Given the description of an element on the screen output the (x, y) to click on. 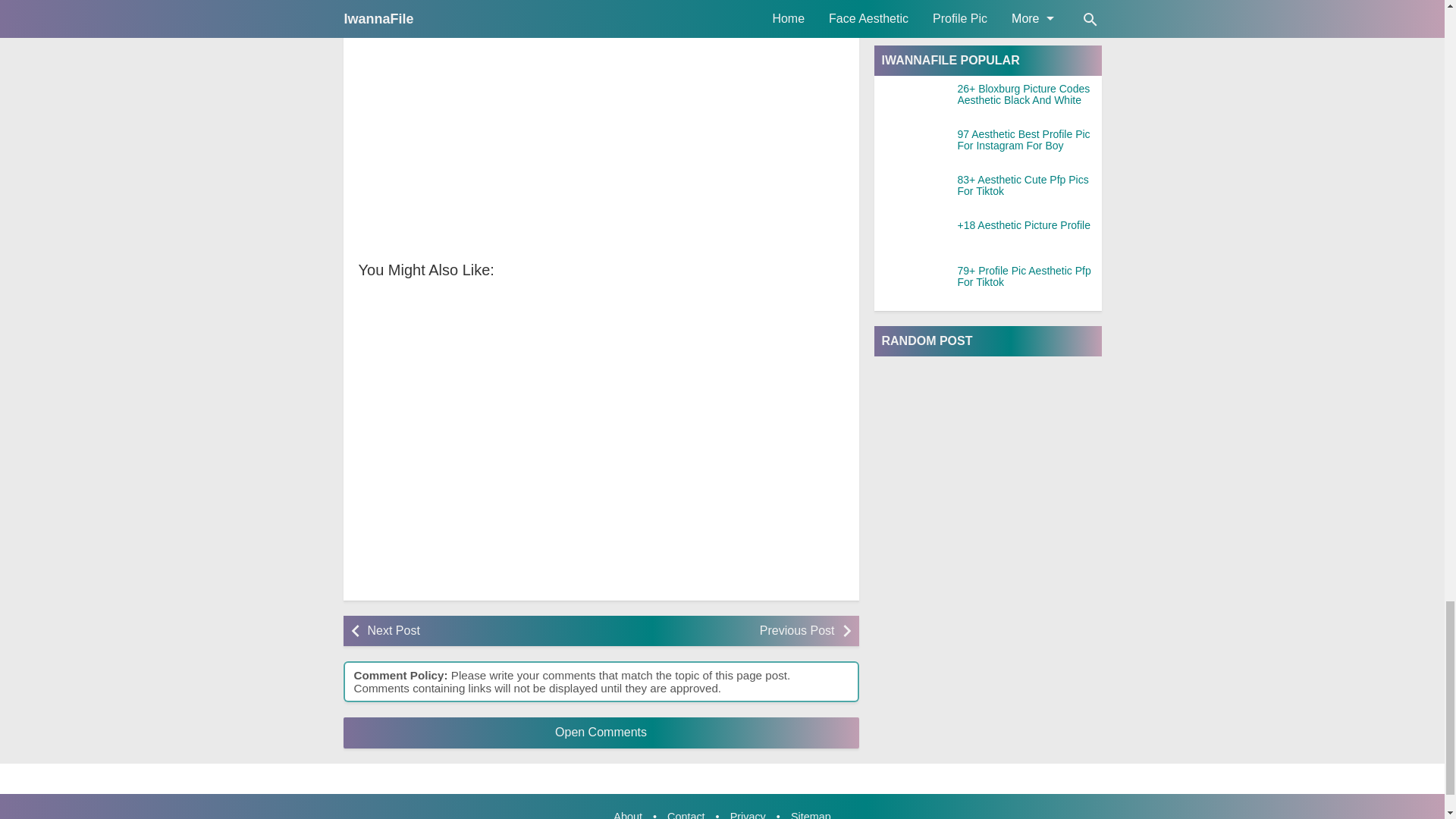
Newer Post (479, 631)
Next Post (479, 631)
Previous Post (721, 631)
